Given the description of an element on the screen output the (x, y) to click on. 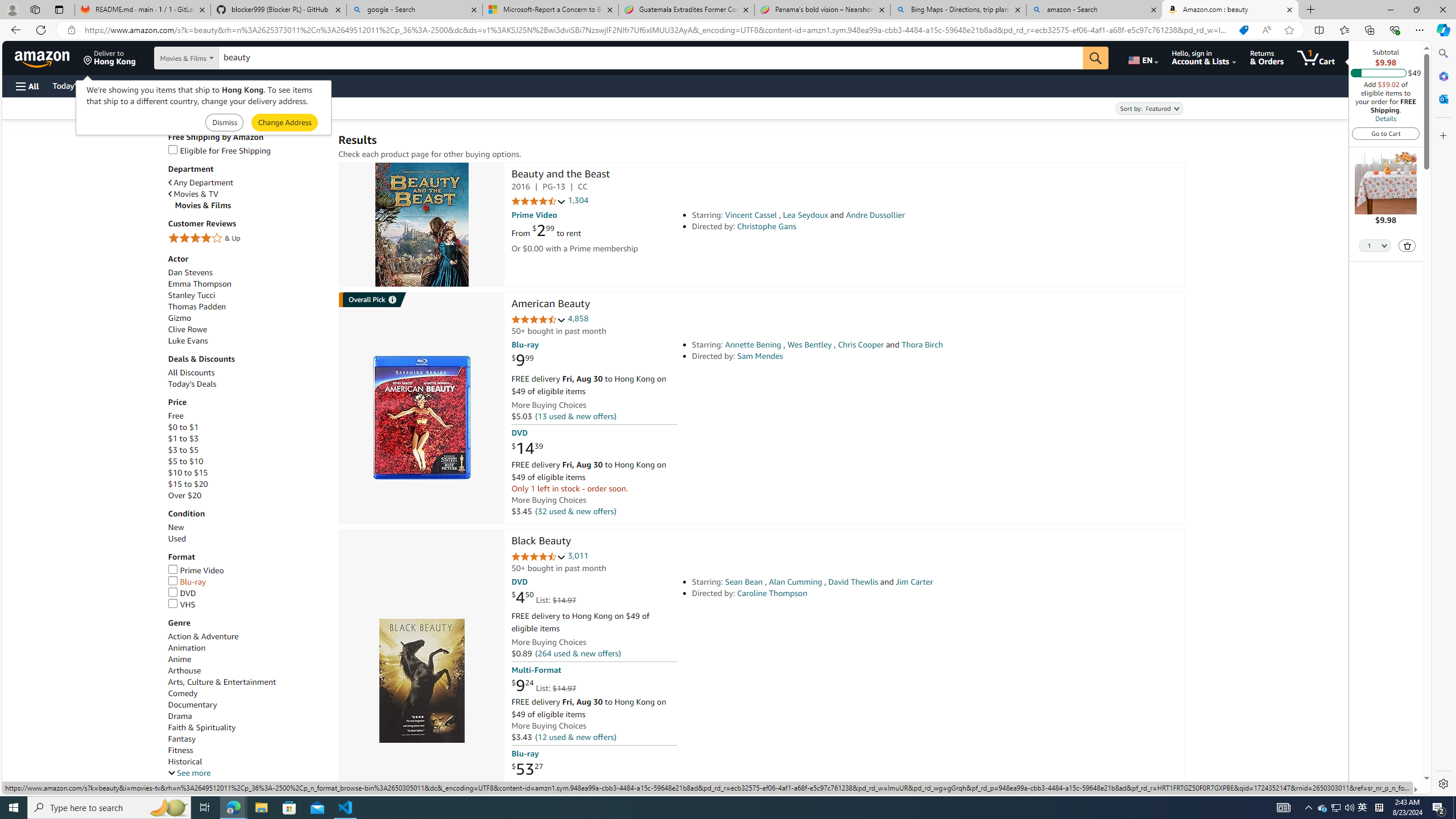
Choose a language for shopping. (1142, 57)
Used (176, 538)
$10 to $15 (247, 472)
$9.99 (522, 360)
(264 used & new offers) (577, 653)
Lea Seydoux (805, 214)
Customer Service (145, 85)
Today's Deals (247, 384)
$3 to $5 (247, 450)
New (247, 527)
1,304 (577, 200)
Multi-Format (536, 670)
All Discounts (191, 372)
